Given the description of an element on the screen output the (x, y) to click on. 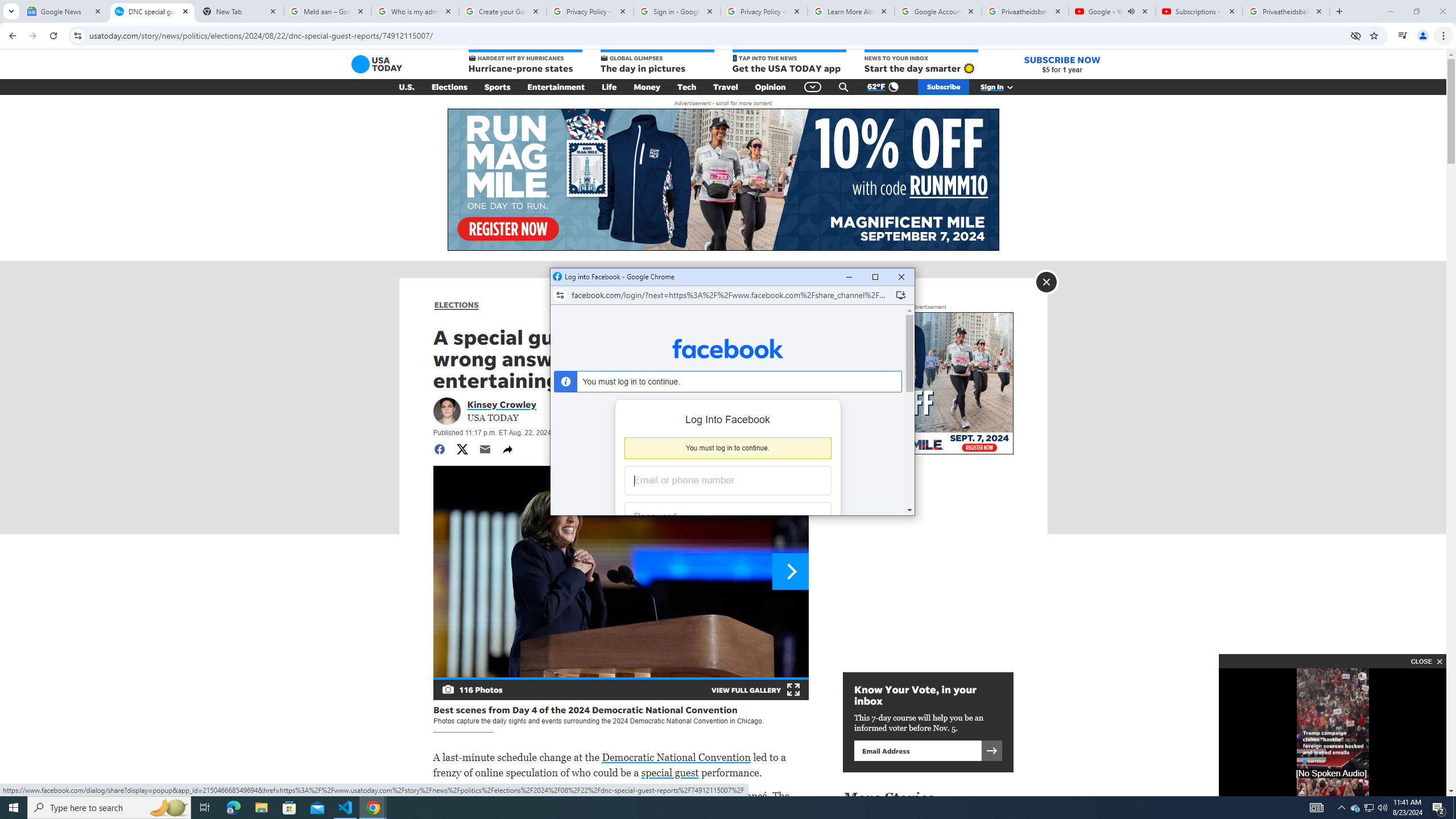
Elections (449, 87)
Share by email (484, 449)
Install Facebook (900, 295)
Microsoft Edge (233, 807)
Google Account (938, 11)
User Promoted Notification Area (1368, 807)
Create your Google Account (502, 11)
Share to Facebook (438, 449)
Opinion (770, 87)
